Given the description of an element on the screen output the (x, y) to click on. 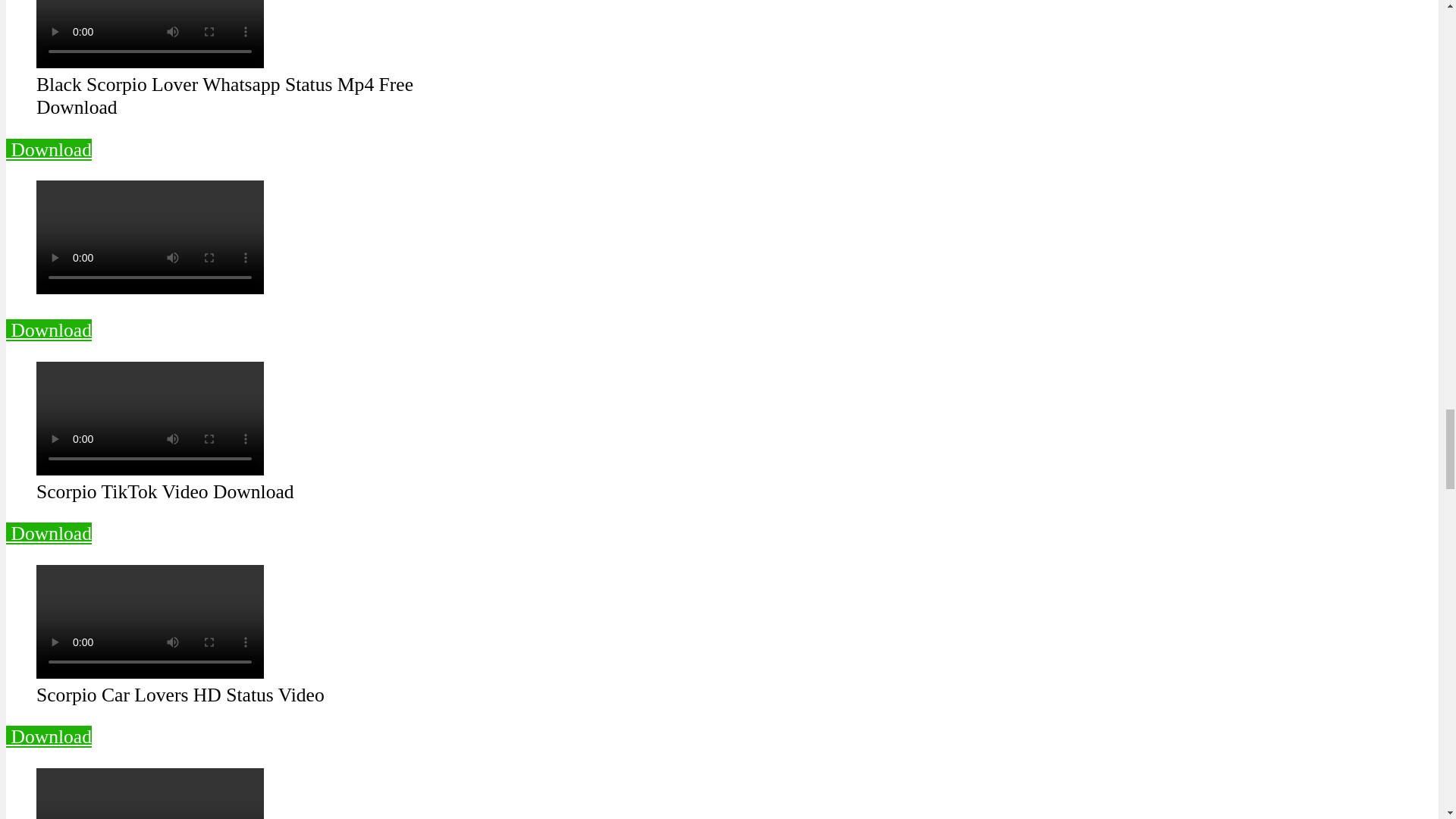
 Download (48, 330)
 Download (48, 736)
 Download (48, 533)
 Download (48, 149)
